Given the description of an element on the screen output the (x, y) to click on. 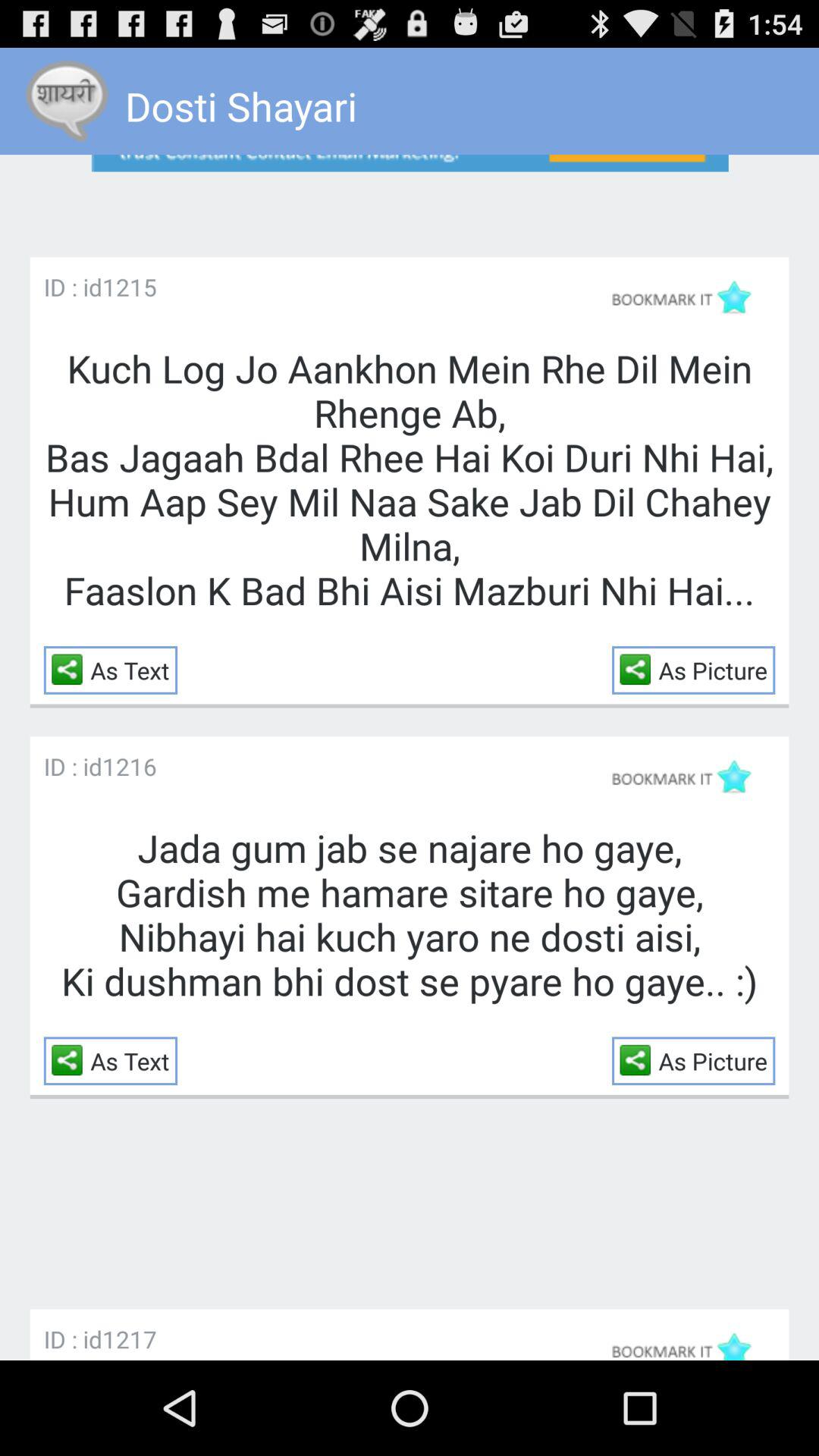
open the advertisement (409, 192)
